Given the description of an element on the screen output the (x, y) to click on. 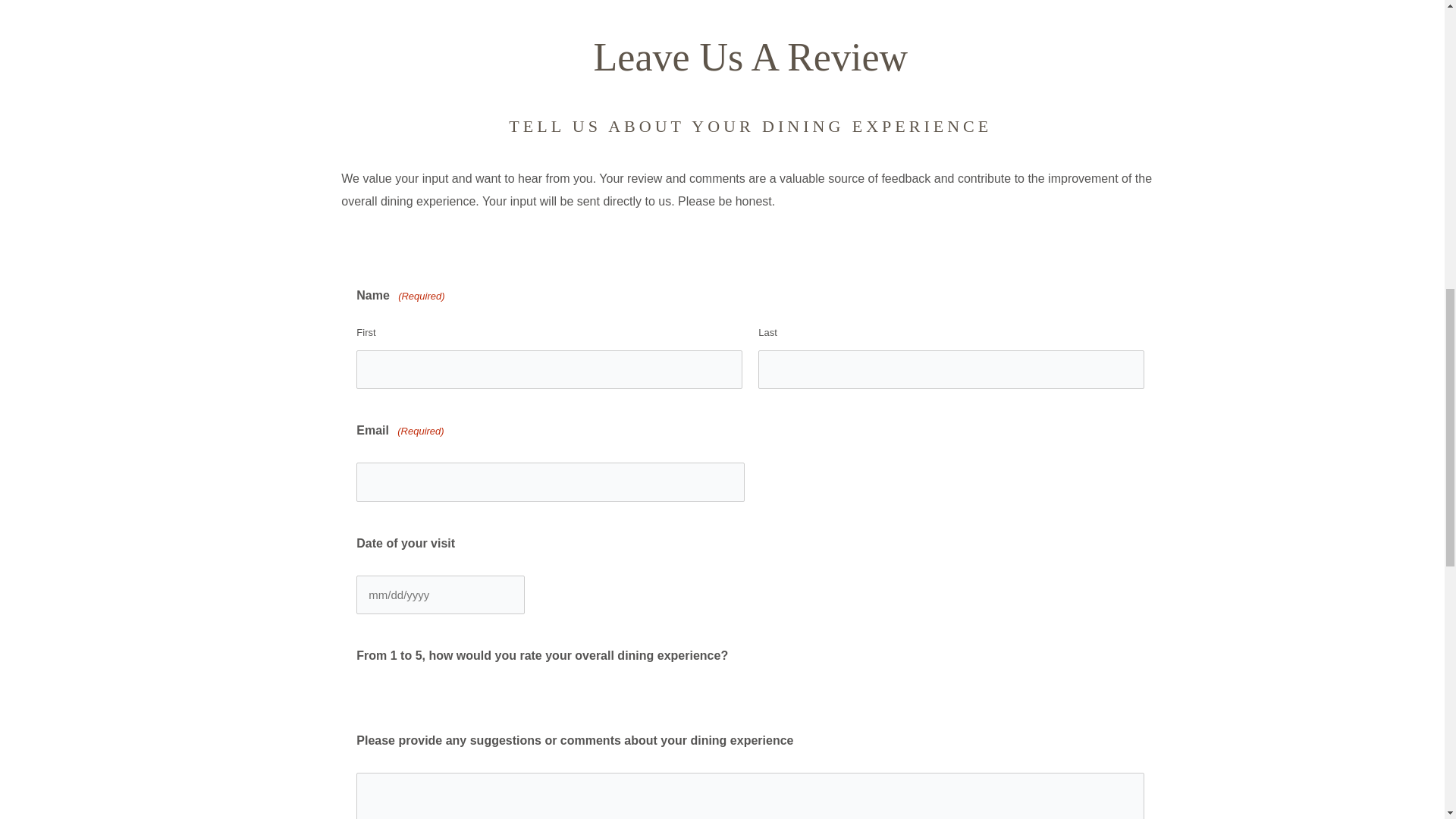
grating15b40c0c1c (361, 685)
grating1549e204bf (361, 685)
4 stars (501, 695)
5 stars (543, 695)
grating158b9afdb5 (361, 685)
grating157c2cb350 (361, 685)
3 stars (460, 695)
grating1553dfd0eb (361, 685)
2 stars (418, 695)
1 star (376, 695)
